Given the description of an element on the screen output the (x, y) to click on. 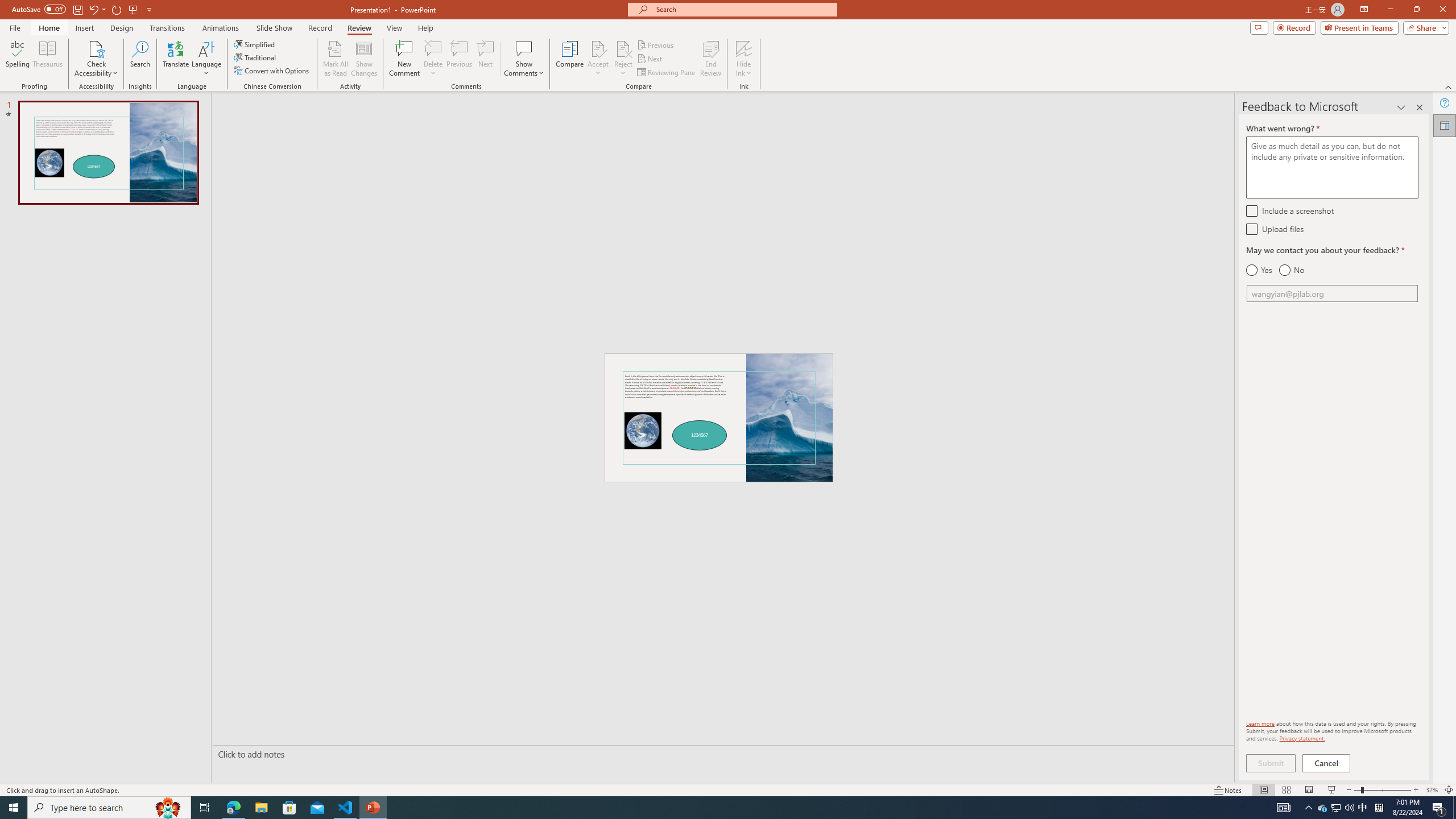
Yes (1259, 269)
Simplified (254, 44)
Previous (655, 44)
Reject Change (622, 48)
Microsoft search (742, 9)
Translate (175, 58)
Zoom 32% (1431, 790)
Hide Ink (743, 58)
